Given the description of an element on the screen output the (x, y) to click on. 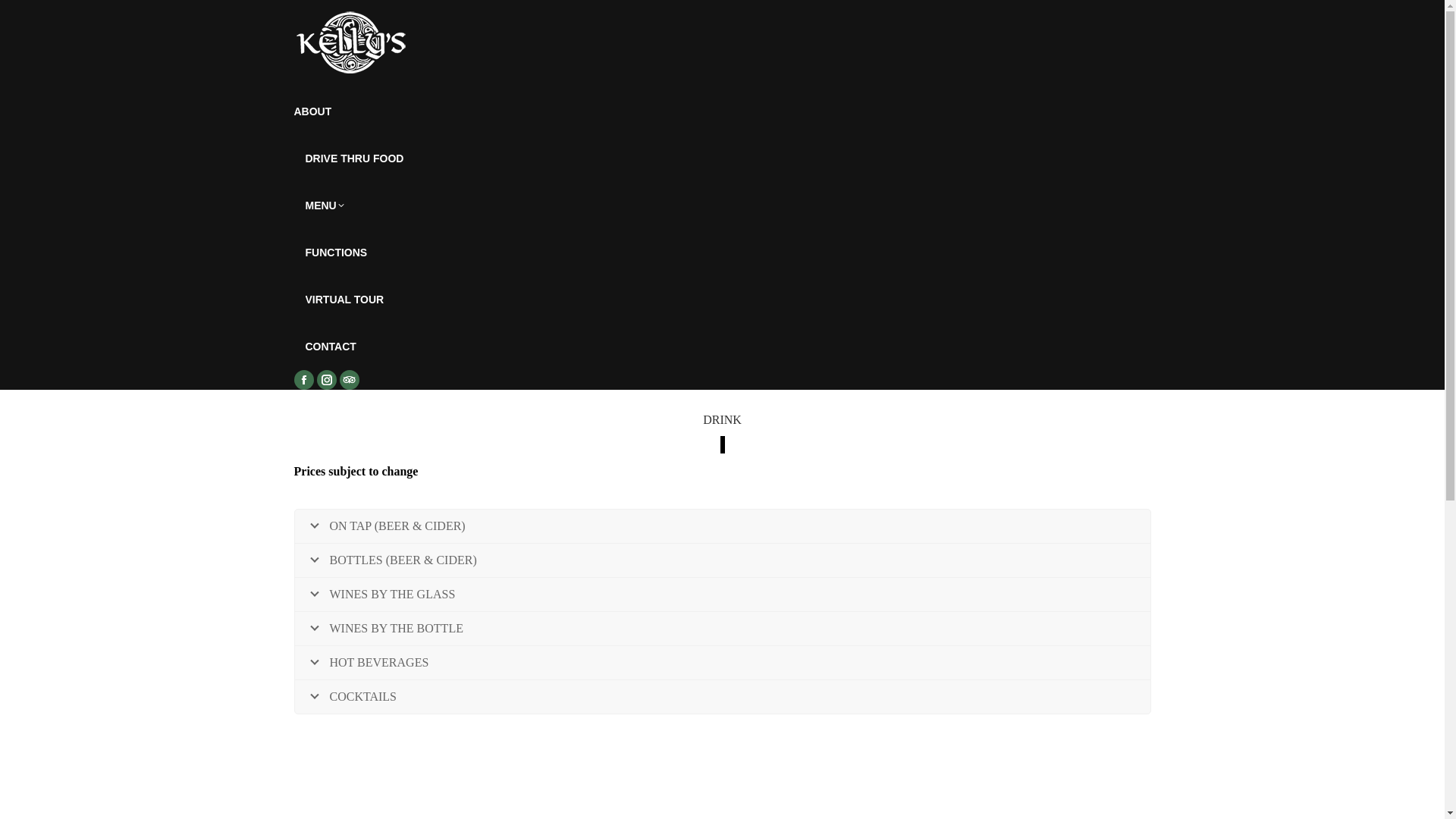
VIRTUAL TOUR Element type: text (343, 299)
FUNCTIONS Element type: text (335, 252)
ON TAP (BEER & CIDER) Element type: text (721, 525)
WINES BY THE GLASS Element type: text (721, 594)
WINES BY THE BOTTLE Element type: text (721, 628)
DRIVE THRU FOOD Element type: text (353, 158)
HOT BEVERAGES Element type: text (721, 662)
COCKTAILS Element type: text (721, 696)
TripAdvisor page opens in new window Element type: text (349, 379)
BOTTLES (BEER & CIDER) Element type: text (721, 560)
MENU Element type: text (323, 205)
Facebook page opens in new window Element type: text (303, 379)
CONTACT Element type: text (329, 346)
ABOUT Element type: text (313, 111)
Instagram page opens in new window Element type: text (326, 379)
